Given the description of an element on the screen output the (x, y) to click on. 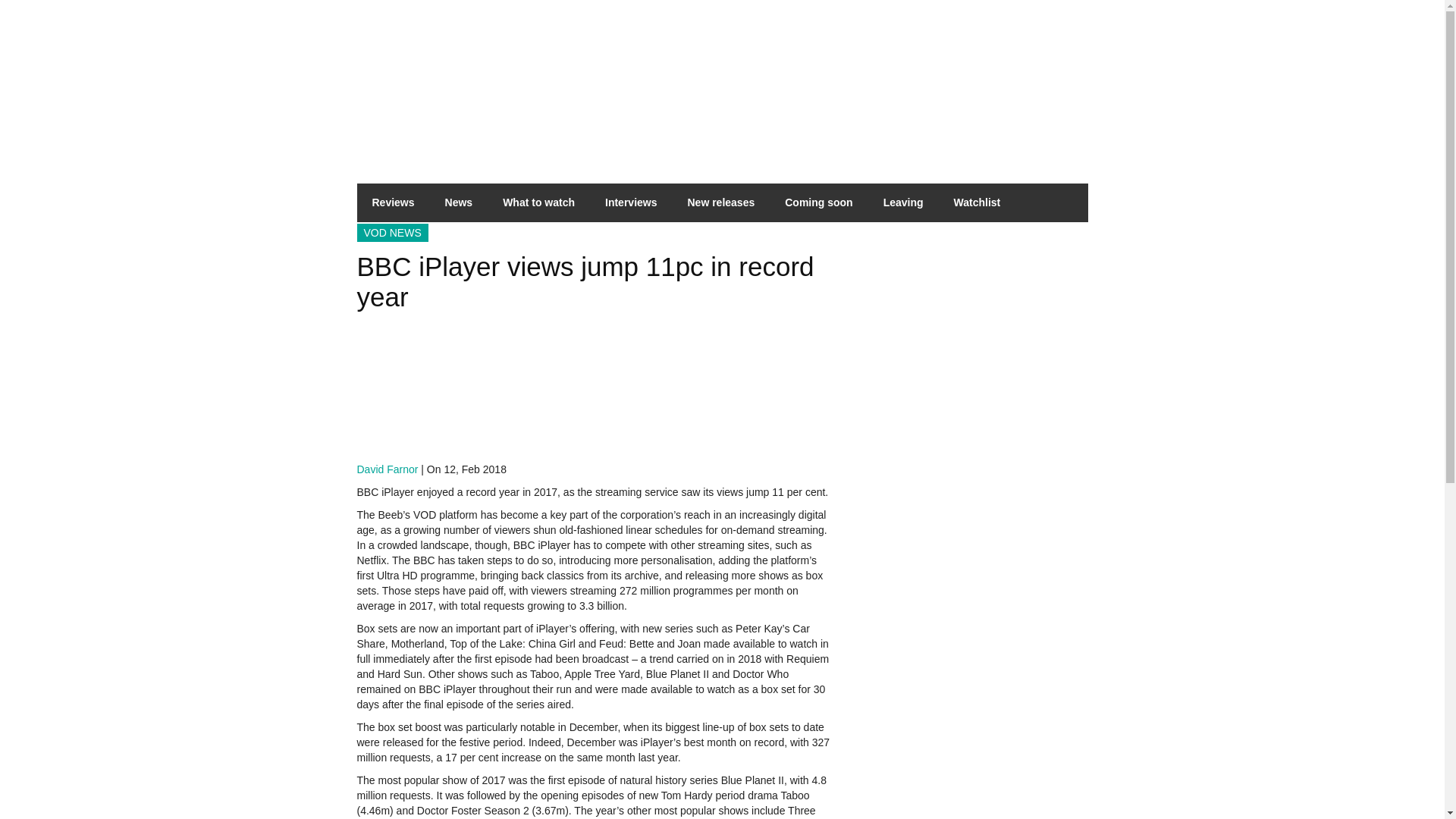
Reviews (392, 202)
Interviews (630, 202)
New releases (720, 202)
Coming soon (818, 202)
New releases (720, 202)
What to watch (538, 202)
News (458, 202)
